Given the description of an element on the screen output the (x, y) to click on. 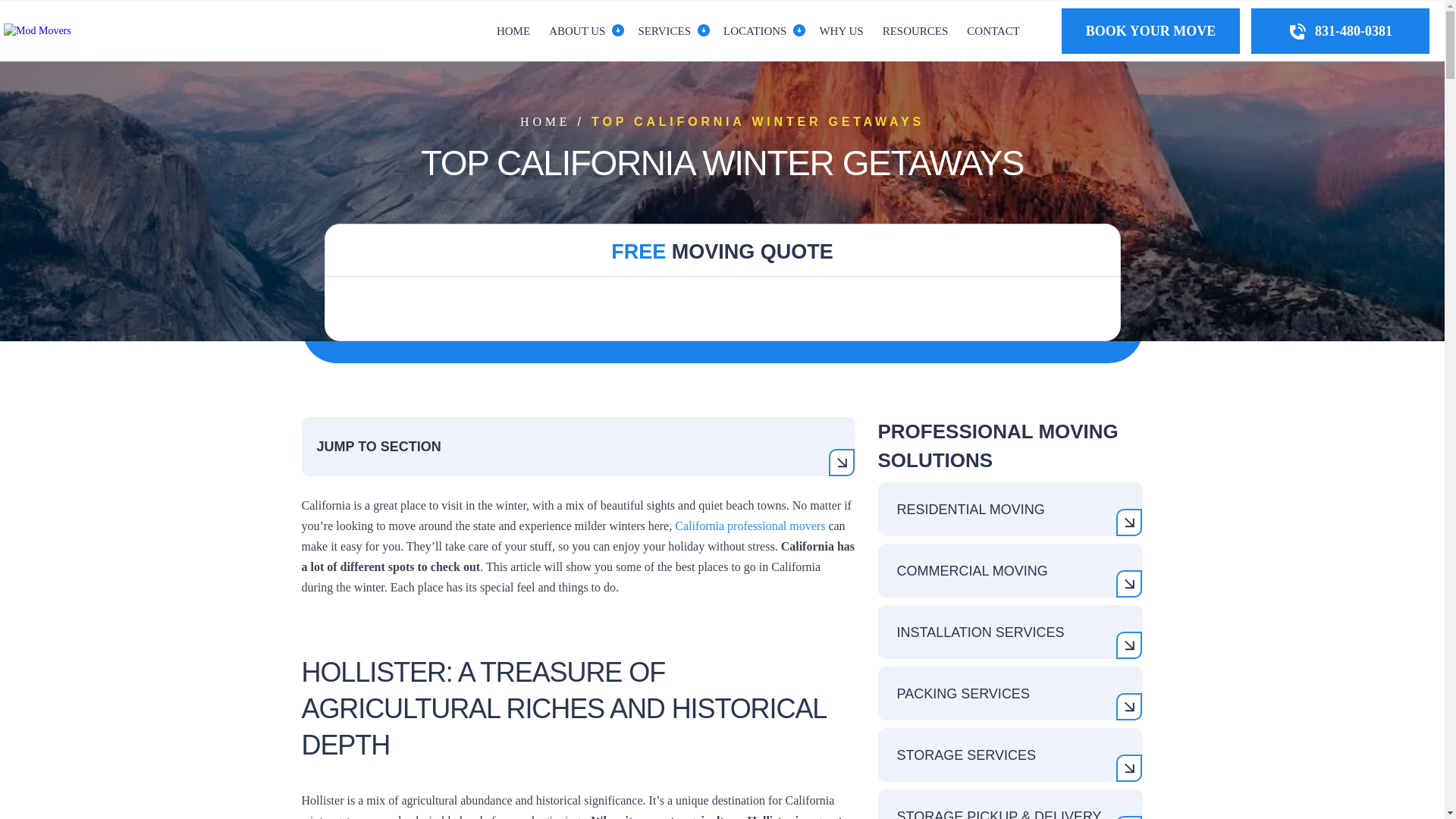
SERVICES (663, 30)
ABOUT US (576, 30)
